Given the description of an element on the screen output the (x, y) to click on. 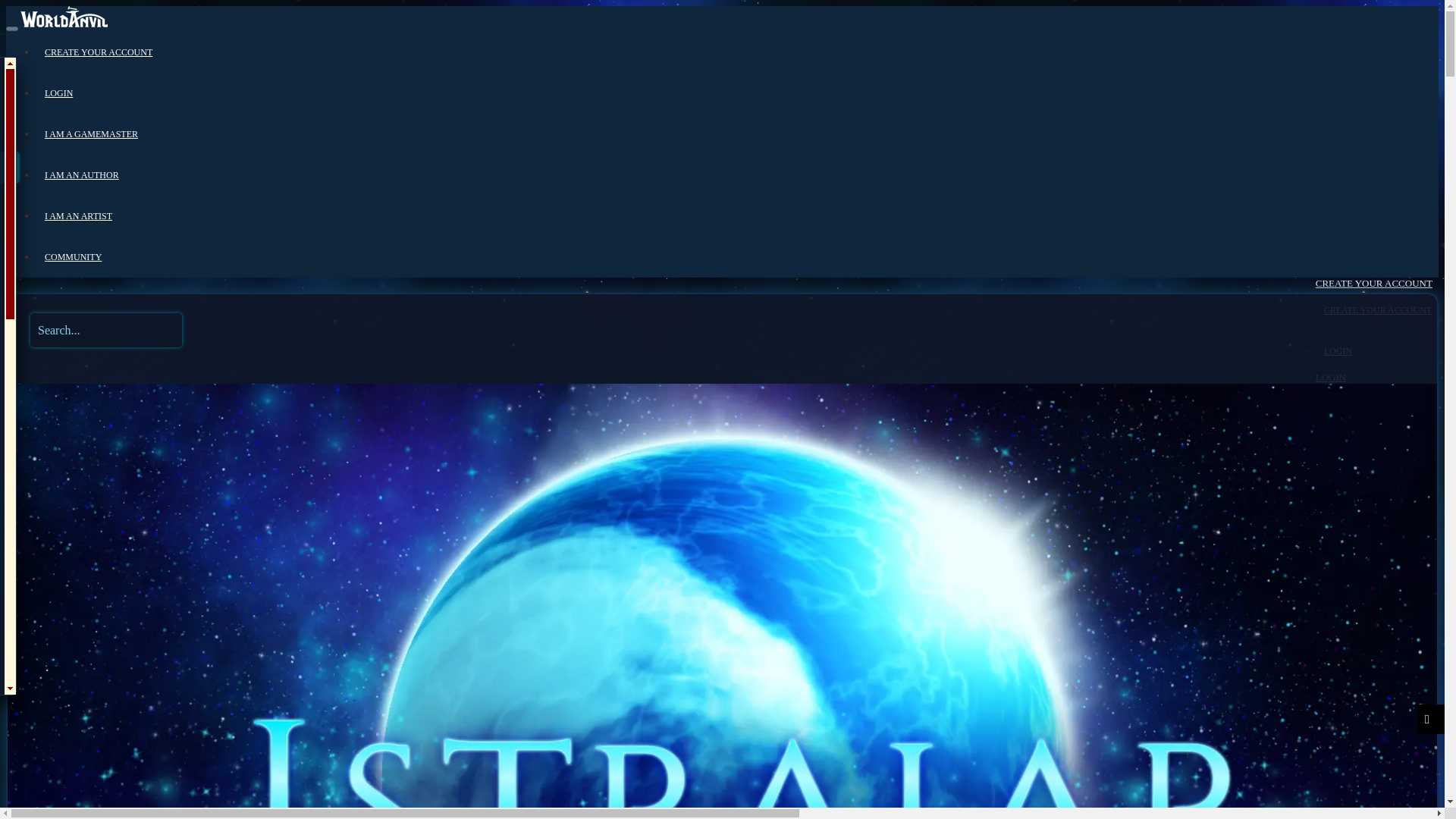
LOGIN (58, 92)
I AM AN AUTHOR (81, 174)
I AM A GAMEMASTER (90, 133)
COMMUNITY (72, 256)
LOGIN (1337, 350)
Toggle Menu (11, 28)
I AM AN ARTIST (78, 215)
CREATE YOUR ACCOUNT (1377, 309)
CREATE YOUR ACCOUNT (97, 51)
LOGIN (1330, 377)
CREATE YOUR ACCOUNT (1374, 283)
